Given the description of an element on the screen output the (x, y) to click on. 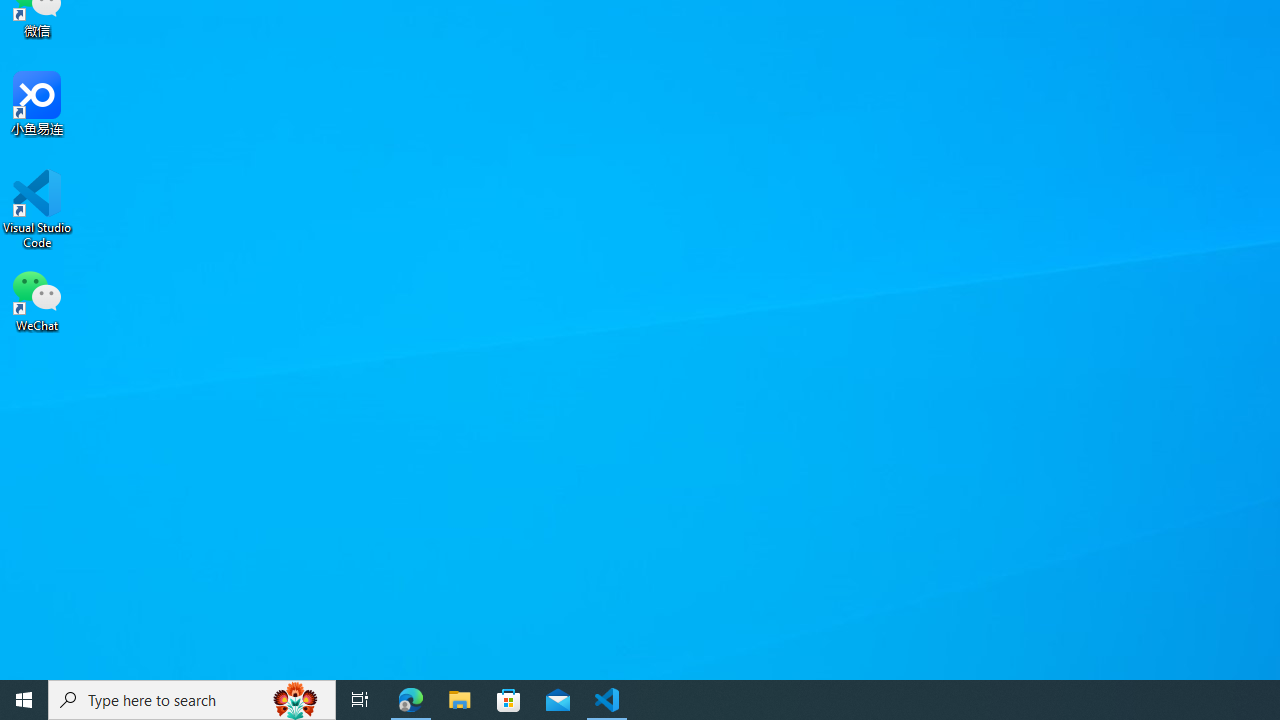
File Explorer (460, 699)
Search highlights icon opens search home window (295, 699)
Visual Studio Code - 1 running window (607, 699)
WeChat (37, 299)
Start (24, 699)
Microsoft Edge - 1 running window (411, 699)
Visual Studio Code (37, 209)
Type here to search (191, 699)
Microsoft Store (509, 699)
Task View (359, 699)
